Given the description of an element on the screen output the (x, y) to click on. 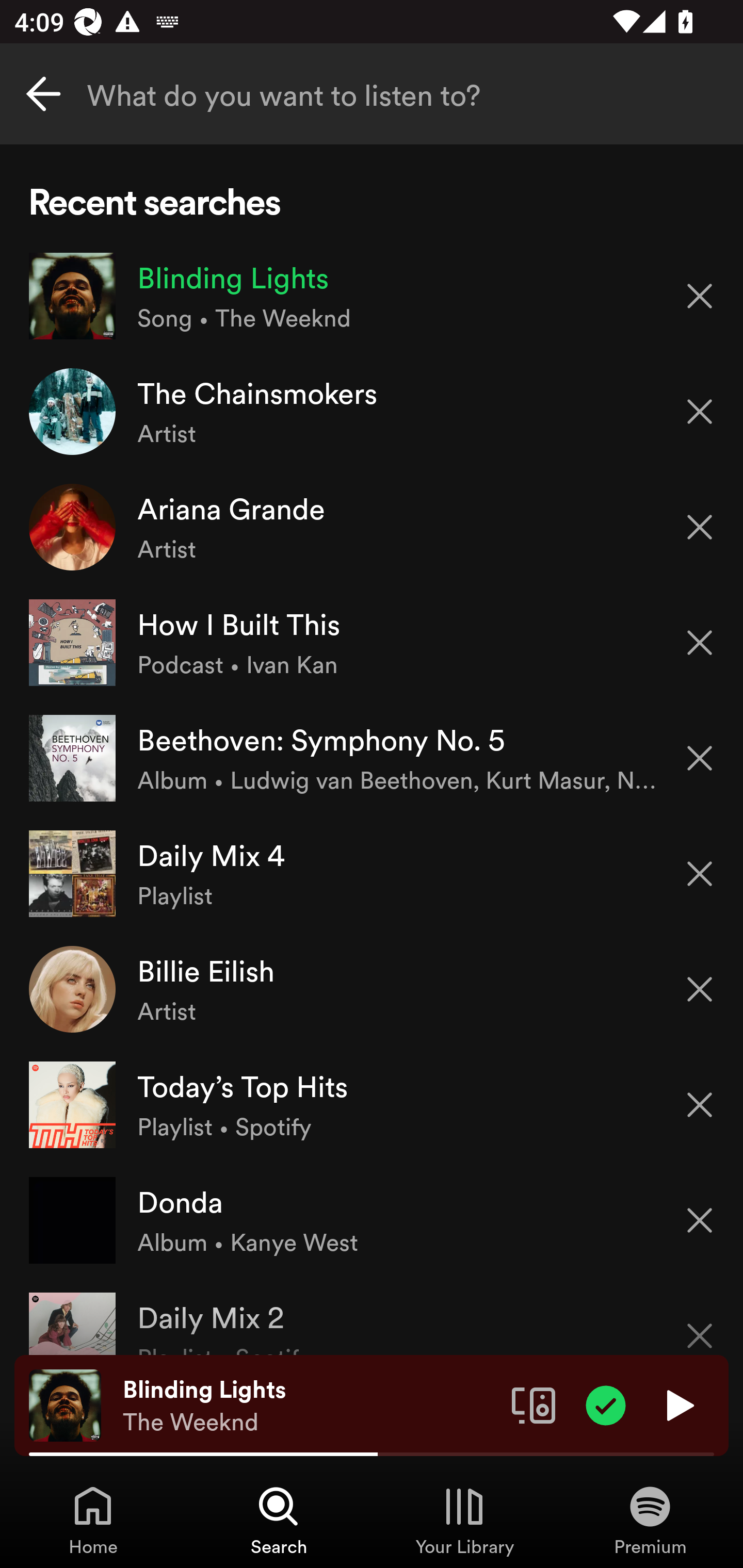
What do you want to listen to? (371, 93)
Cancel (43, 93)
Blinding Lights Song • The Weeknd Remove (371, 296)
Remove (699, 295)
The Chainsmokers Artist Remove (371, 411)
Remove (699, 411)
Ariana Grande Artist Remove (371, 526)
Remove (699, 527)
How I Built This Podcast • Ivan Kan Remove (371, 642)
Remove (699, 642)
Remove (699, 758)
Daily Mix 4 Playlist Remove (371, 873)
Remove (699, 874)
Billie Eilish Artist Remove (371, 989)
Remove (699, 989)
Today’s Top Hits Playlist • Spotify Remove (371, 1104)
Remove (699, 1104)
Donda Album • Kanye West Remove (371, 1219)
Remove (699, 1220)
Daily Mix 2 Playlist • Spotify Remove (371, 1315)
Remove (699, 1323)
Blinding Lights The Weeknd (309, 1405)
The cover art of the currently playing track (64, 1404)
Connect to a device. Opens the devices menu (533, 1404)
Item added (605, 1404)
Play (677, 1404)
Home, Tab 1 of 4 Home Home (92, 1519)
Search, Tab 2 of 4 Search Search (278, 1519)
Your Library, Tab 3 of 4 Your Library Your Library (464, 1519)
Premium, Tab 4 of 4 Premium Premium (650, 1519)
